Given the description of an element on the screen output the (x, y) to click on. 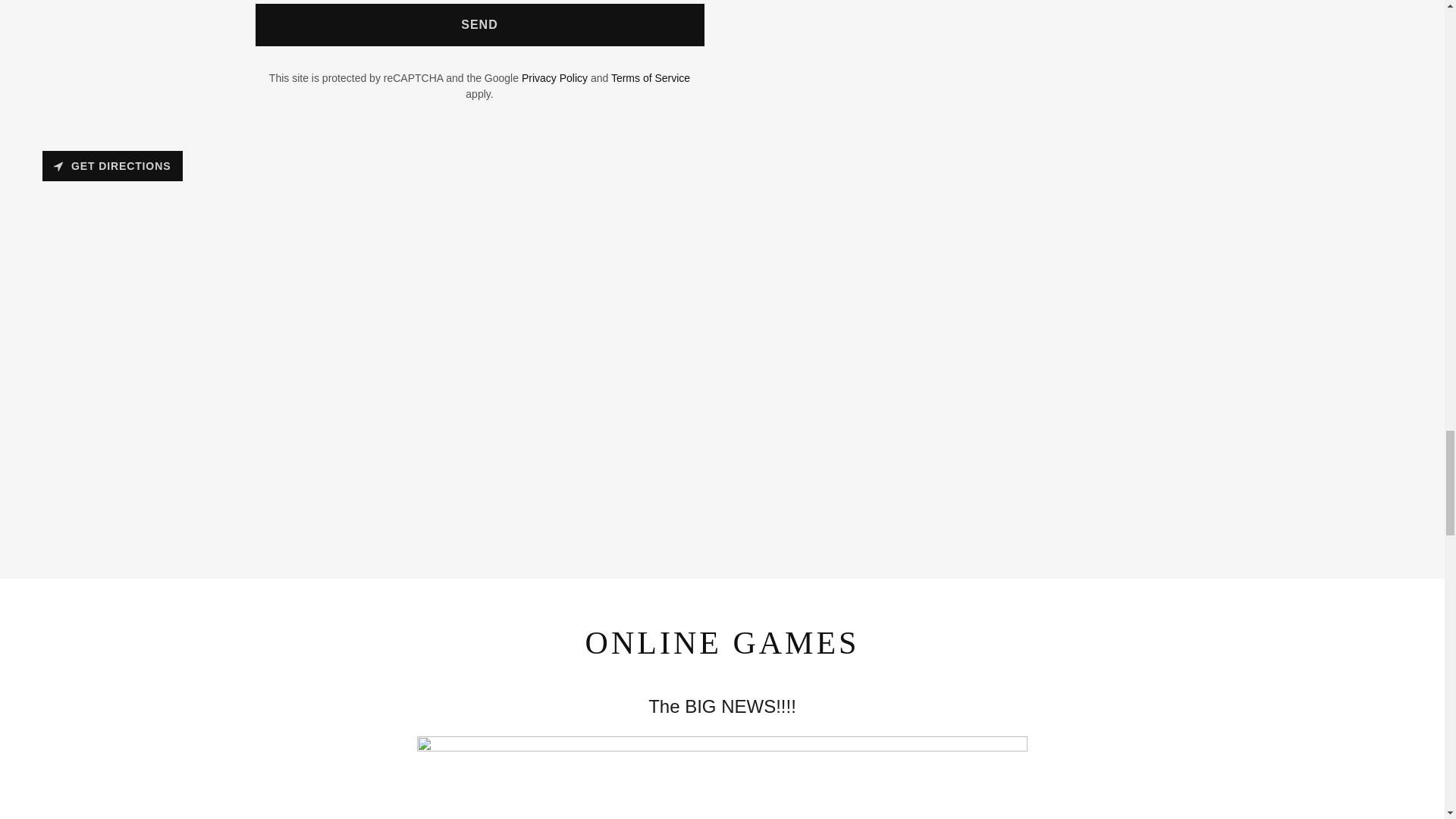
GET DIRECTIONS (112, 165)
Terms of Service (650, 78)
Privacy Policy (554, 78)
SEND (478, 24)
